Given the description of an element on the screen output the (x, y) to click on. 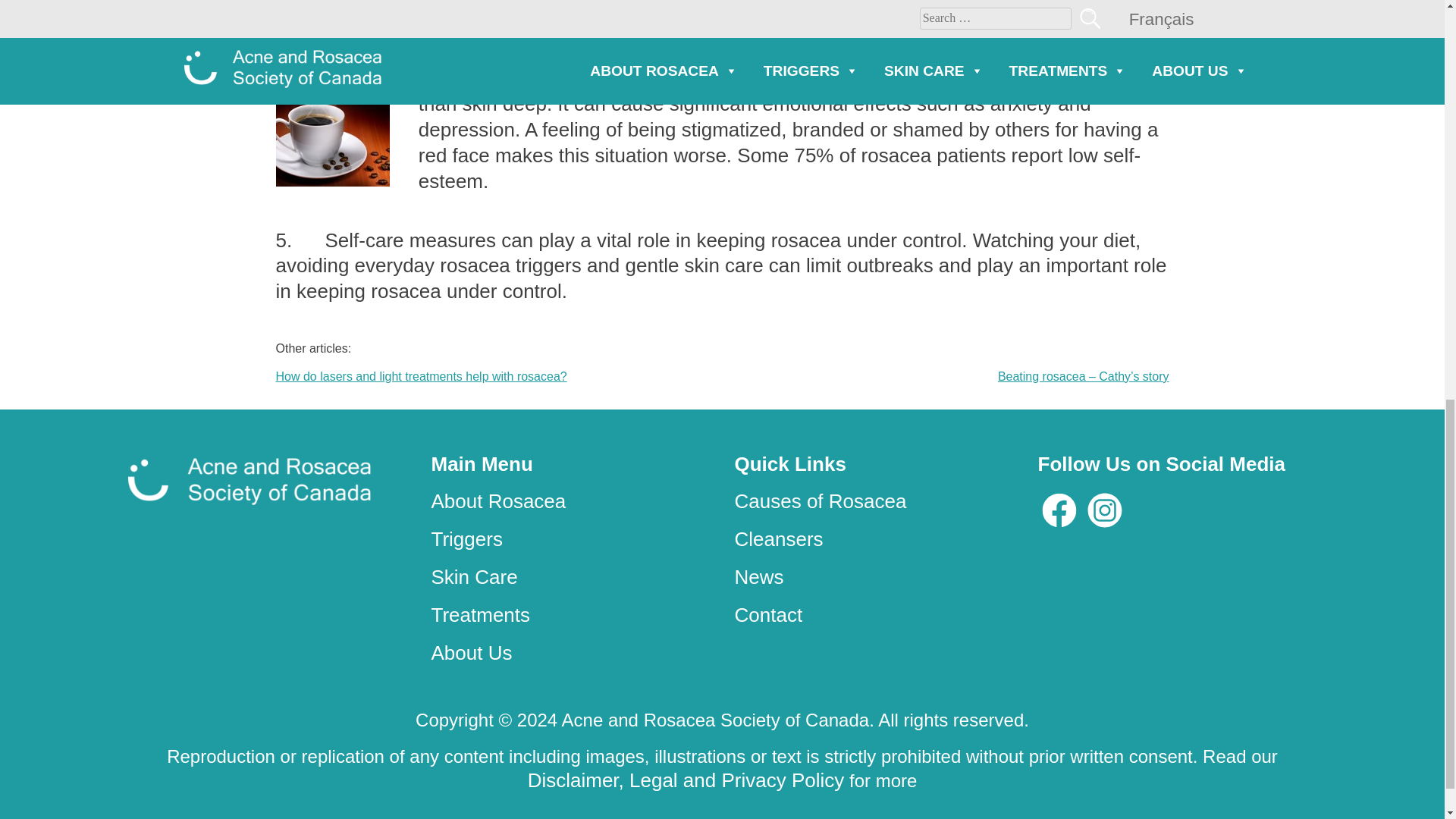
About Rosacea (498, 500)
How do lasers and light treatments help with rosacea? (421, 376)
